Given the description of an element on the screen output the (x, y) to click on. 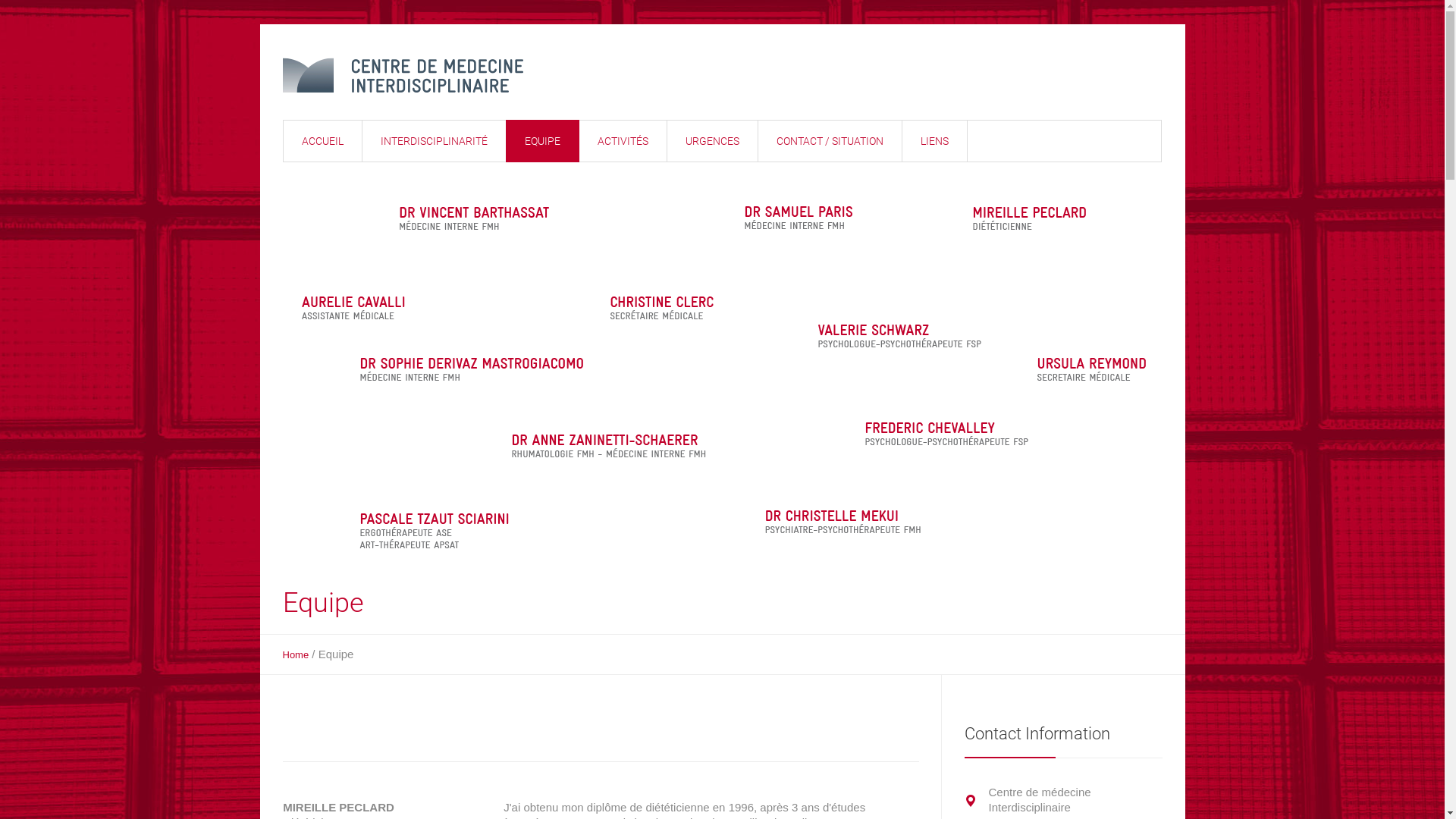
EQUIPE Element type: text (541, 140)
LIENS Element type: text (933, 140)
ACCUEIL Element type: text (321, 140)
Home Element type: text (295, 654)
CONTACT / SITUATION Element type: text (828, 140)
URGENCES Element type: text (711, 140)
